Given the description of an element on the screen output the (x, y) to click on. 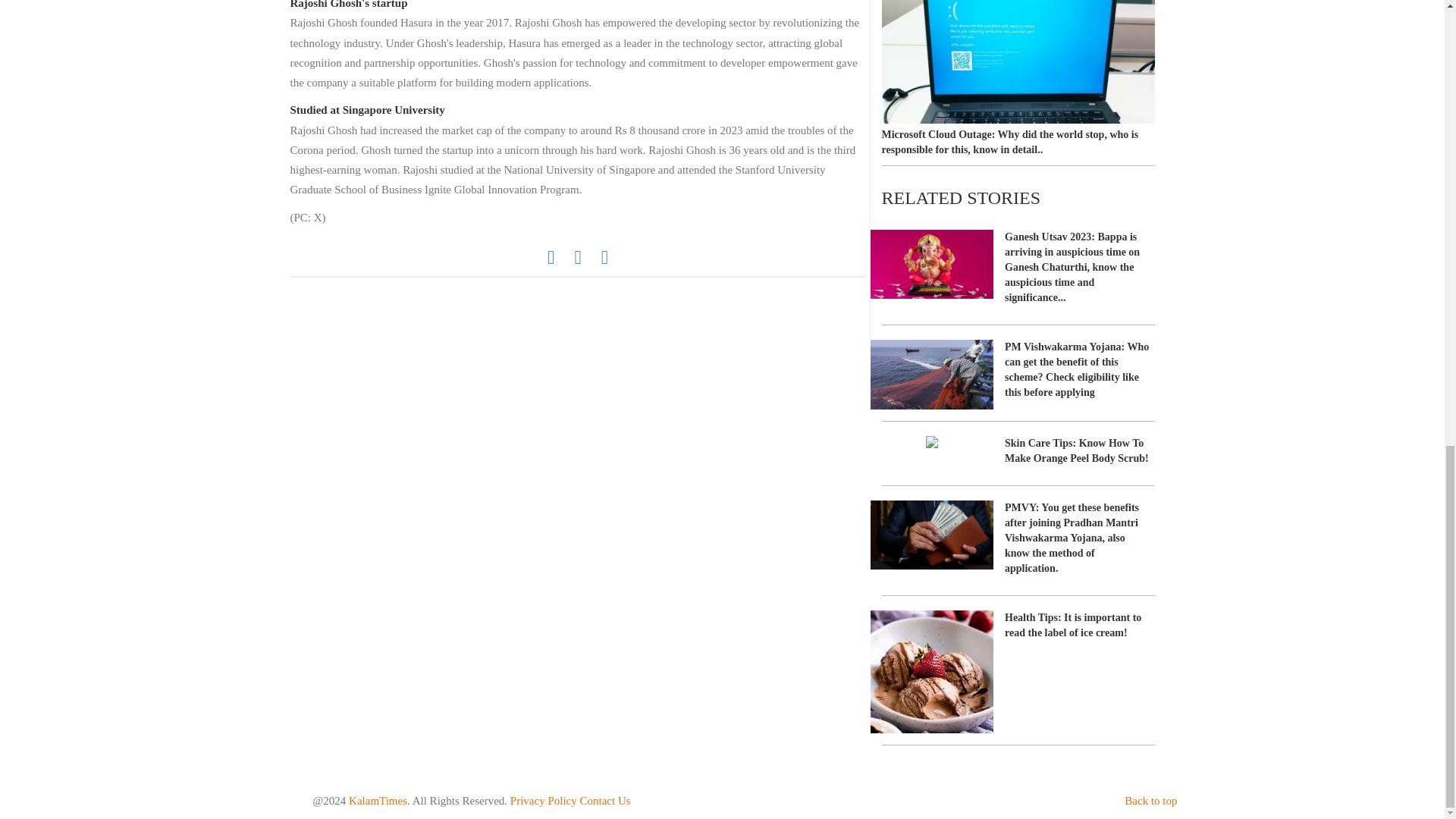
Health Tips: It is important to read the label of ice cream! (1018, 671)
Privacy Policy (543, 800)
Contact Us (604, 800)
KalamTimes (378, 800)
Back to top (1150, 800)
Skin Care Tips: Know How To Make Orange Peel Body Scrub! (1018, 455)
